Given the description of an element on the screen output the (x, y) to click on. 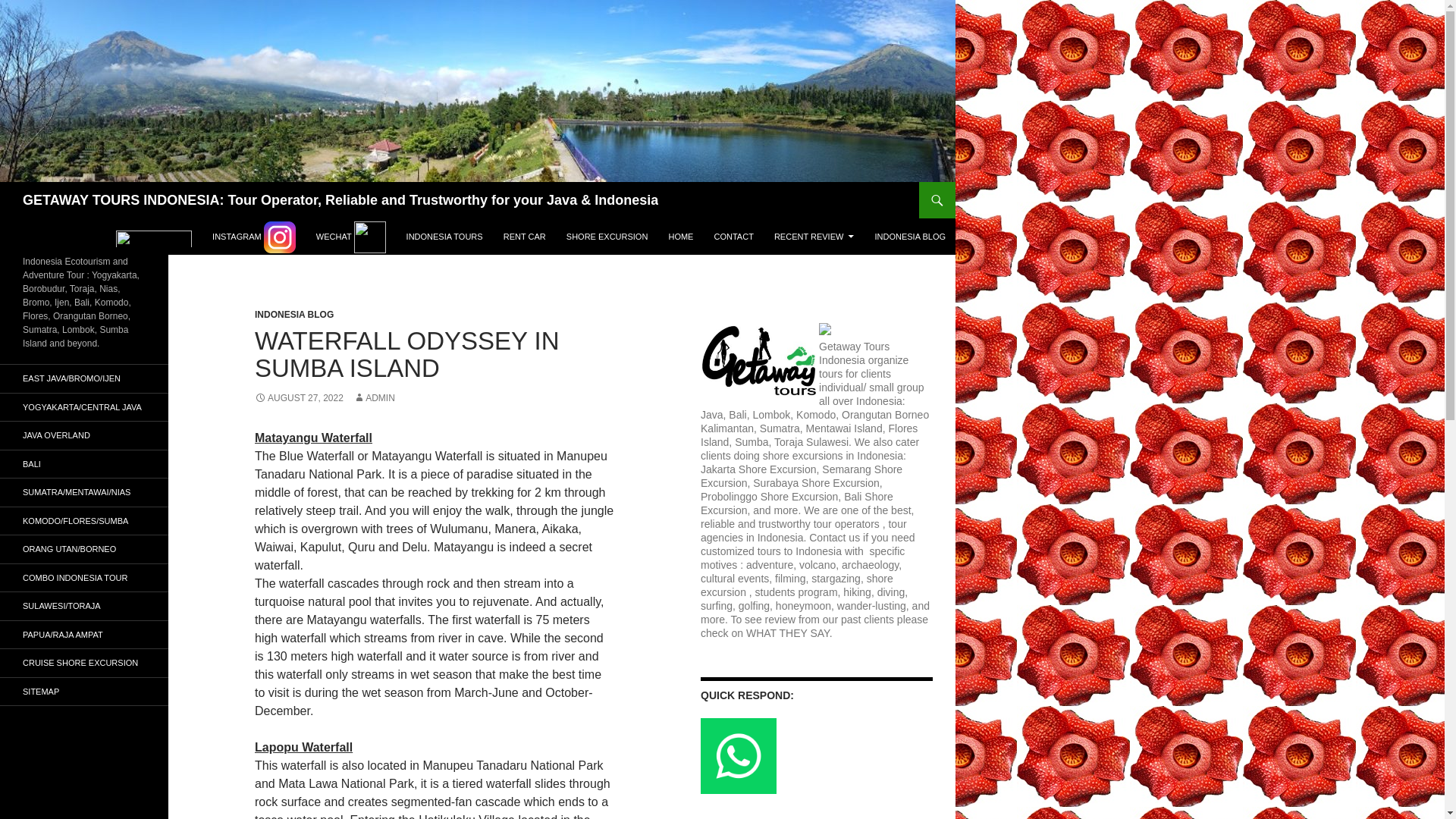
COMBO INDONESIA TOUR (84, 578)
SHORE EXCURSION (607, 236)
WECHAT (350, 236)
RECENT REVIEW (814, 236)
SITEMAP (84, 691)
INDONESIA BLOG (909, 236)
INSTAGRAM (253, 236)
RENT CAR (524, 236)
